Given the description of an element on the screen output the (x, y) to click on. 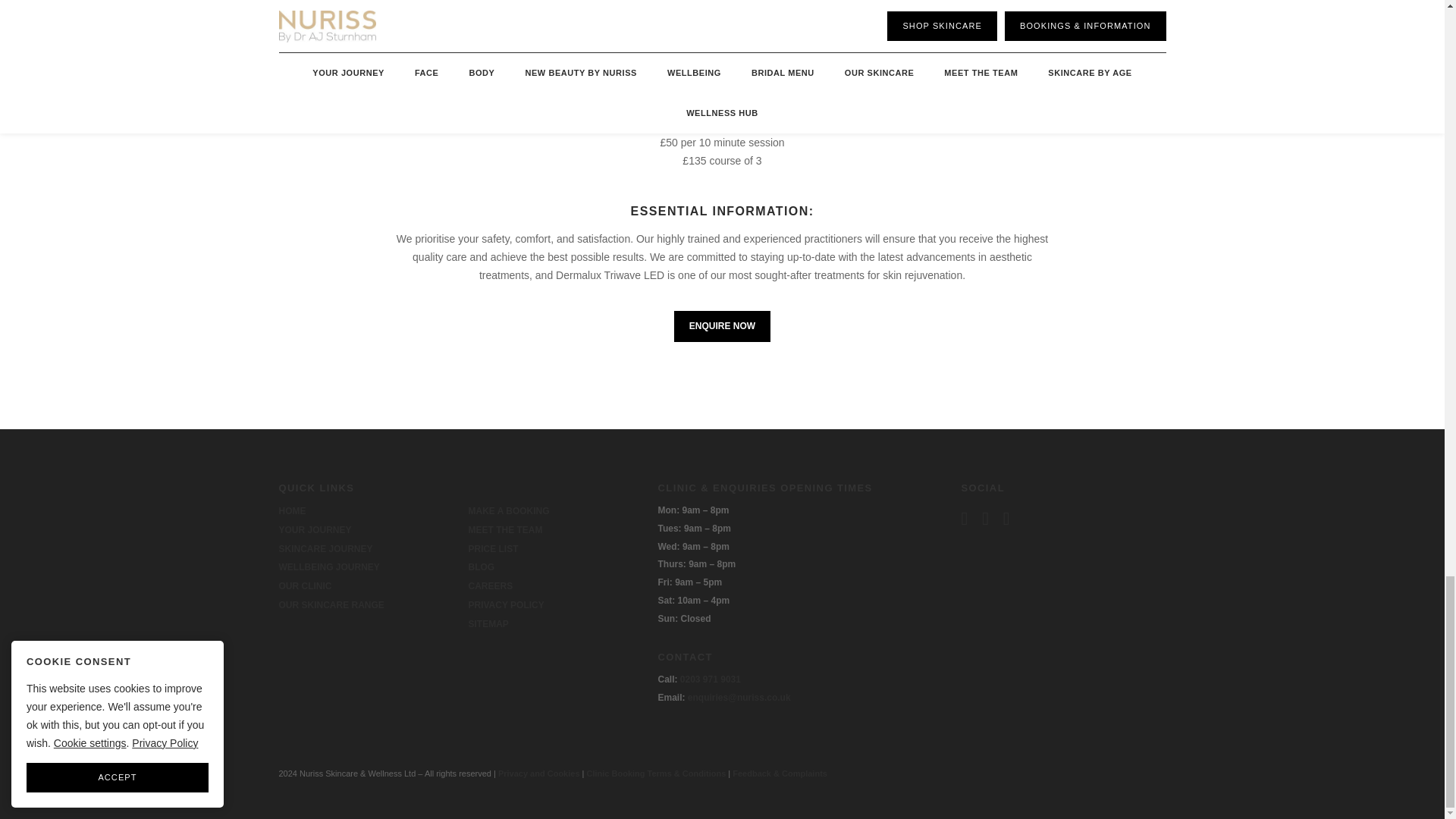
Your Journey (315, 529)
Blog (481, 566)
Skincare Journey (325, 548)
Our Skincare Range (331, 604)
Sitemap (488, 624)
Home (292, 511)
Our Clinic (305, 585)
Make a booking (509, 511)
Careers (490, 585)
Meet the team (505, 529)
